Given the description of an element on the screen output the (x, y) to click on. 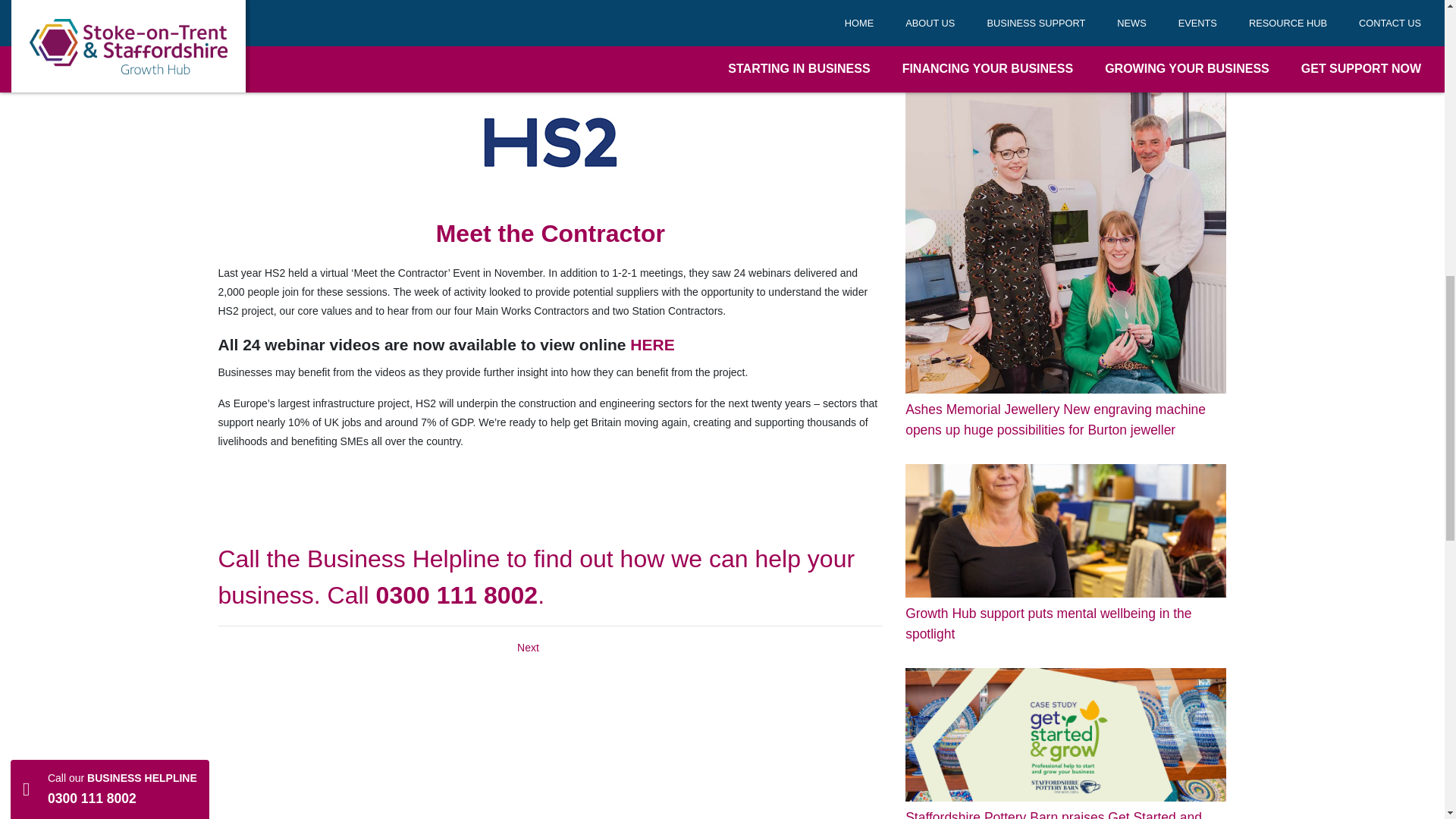
HERE (652, 343)
Next (527, 647)
Growth Hub support puts mental wellbeing in the spotlight (1065, 553)
